Given the description of an element on the screen output the (x, y) to click on. 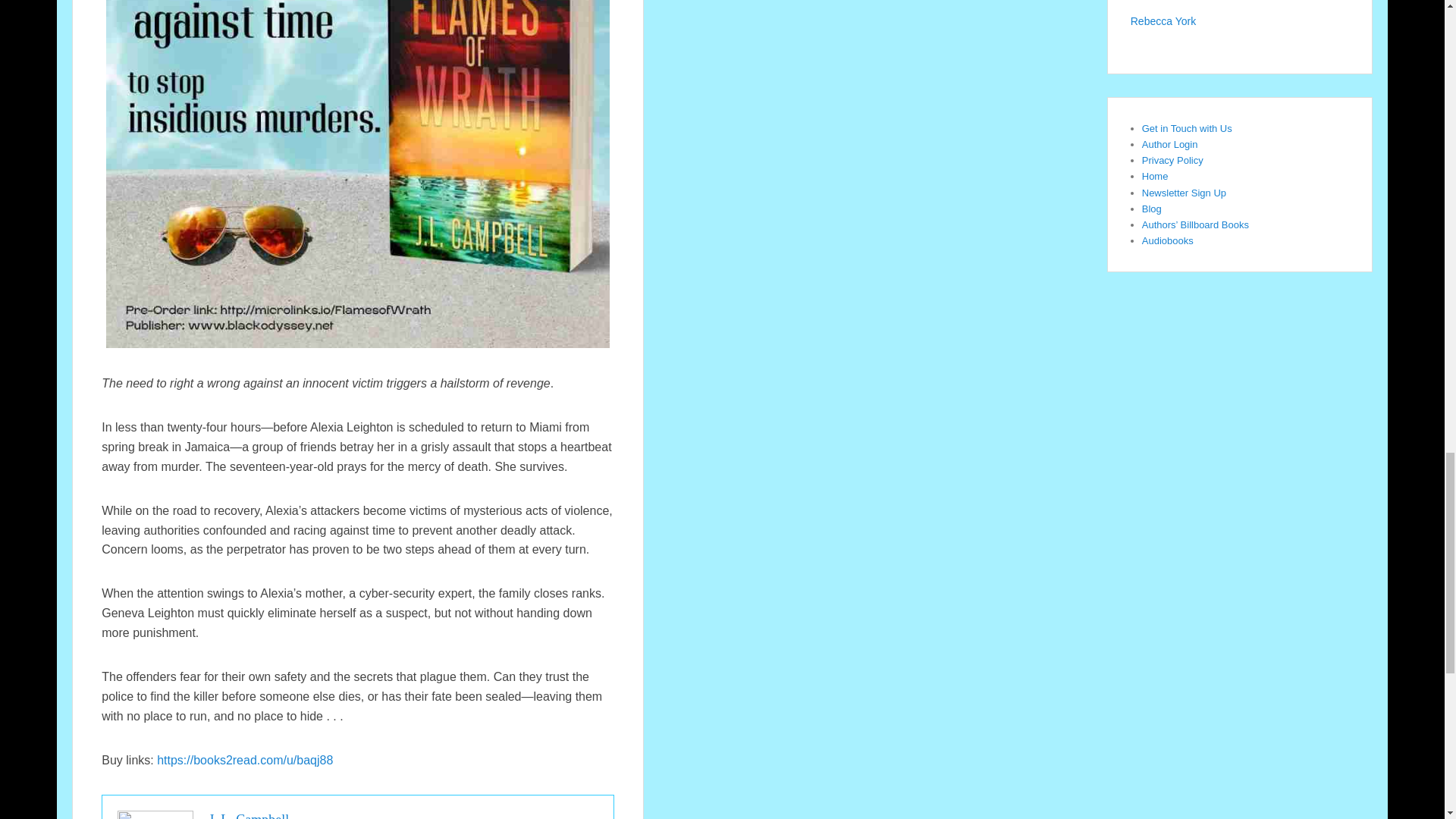
J. L. Campbell (248, 815)
